Given the description of an element on the screen output the (x, y) to click on. 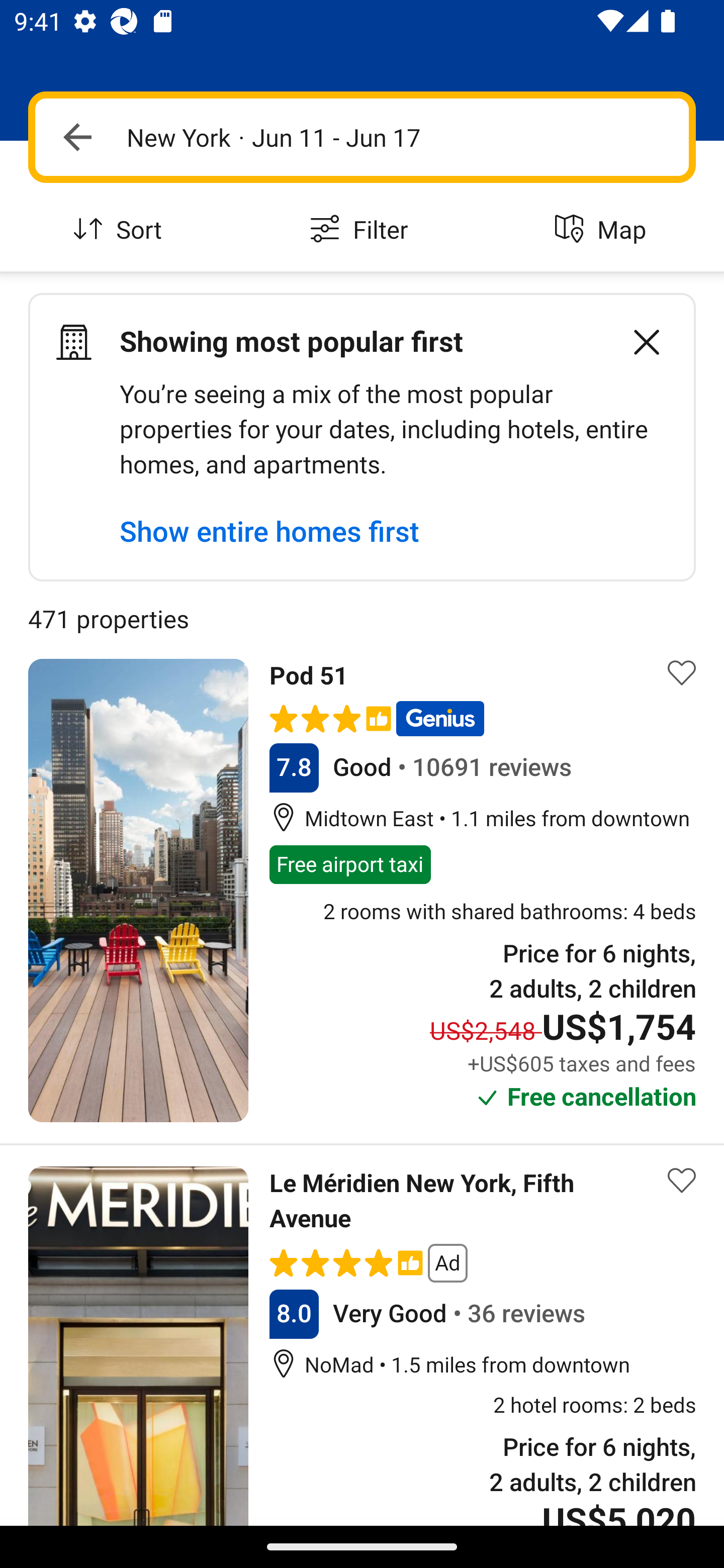
Navigate up New York · Jun 11 - Jun 17 (362, 136)
Navigate up (77, 136)
Sort (120, 230)
Filter (361, 230)
Map (603, 230)
Clear (635, 341)
Show entire homes first (269, 531)
Save property to list (681, 672)
Save property to list (681, 1180)
